Given the description of an element on the screen output the (x, y) to click on. 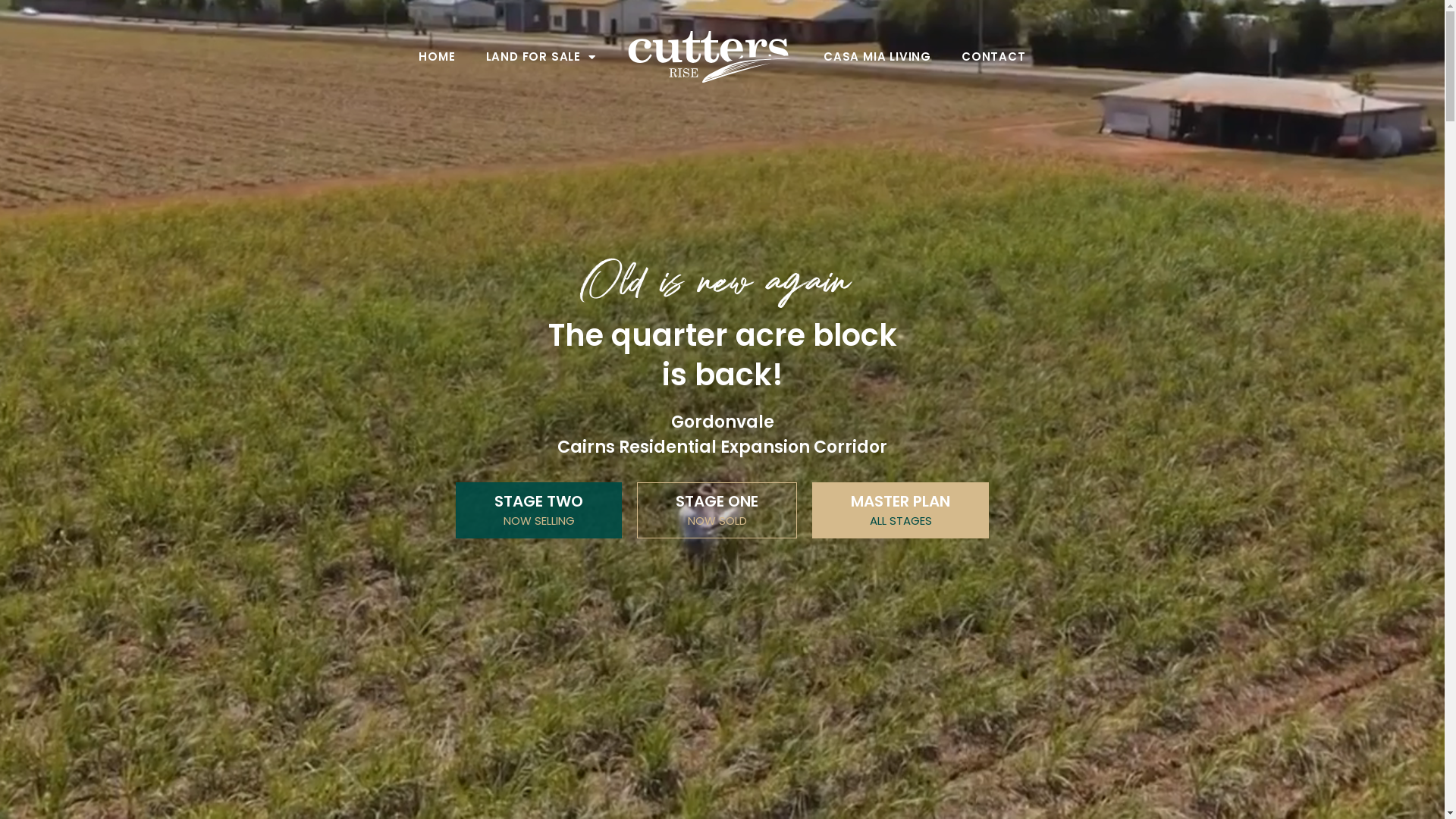
LAND FOR SALE Element type: text (540, 56)
MASTER PLAN
ALL STAGES Element type: text (900, 510)
STAGE ONE
NOW SOLD Element type: text (717, 510)
STAGE TWO
NOW SELLING Element type: text (538, 510)
CONTACT Element type: text (993, 56)
CASA MIA LIVING Element type: text (877, 56)
HOME Element type: text (436, 56)
